Given the description of an element on the screen output the (x, y) to click on. 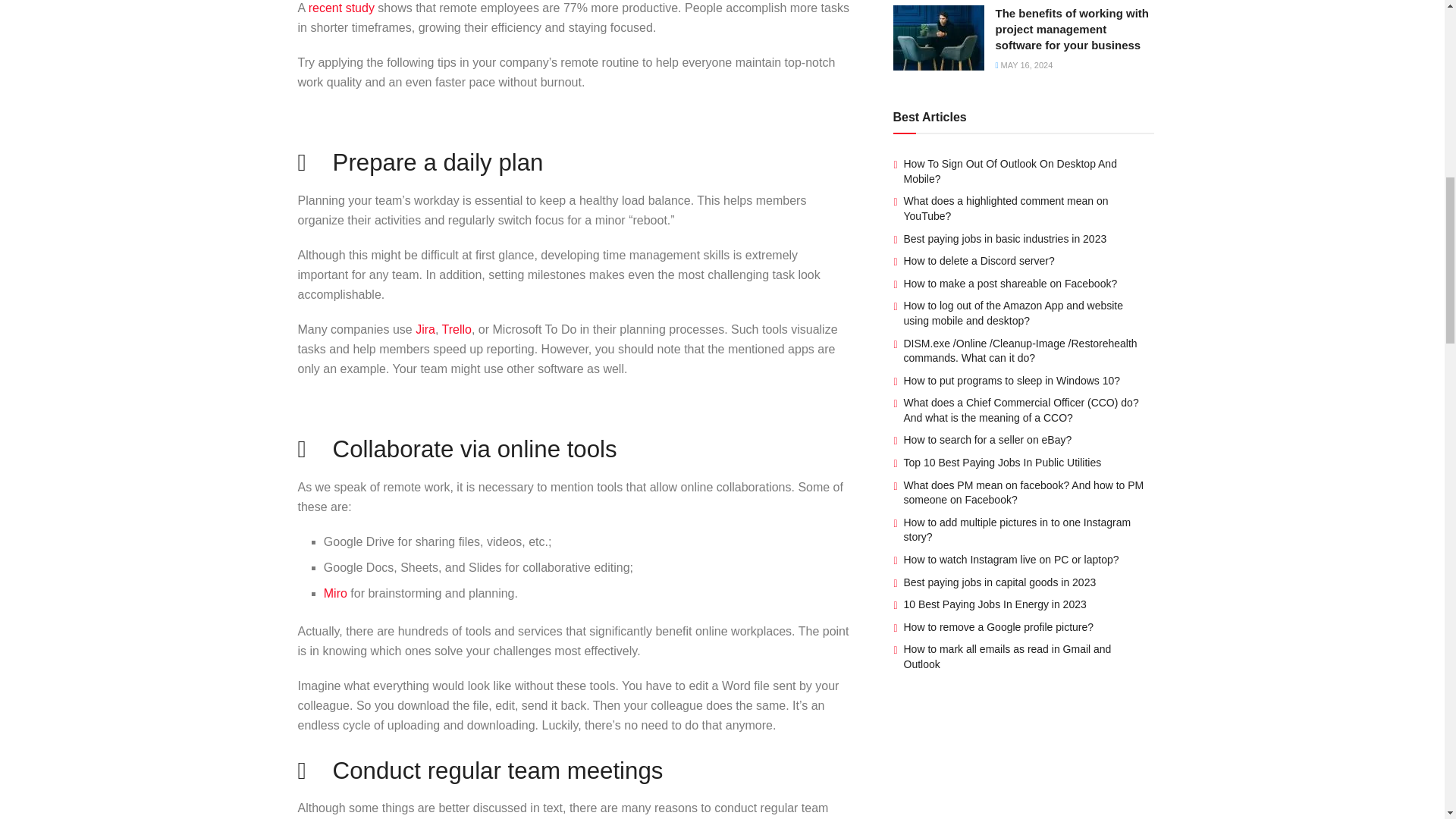
Miro (336, 593)
Jira (424, 328)
recent study (341, 7)
Trello (456, 328)
